Given the description of an element on the screen output the (x, y) to click on. 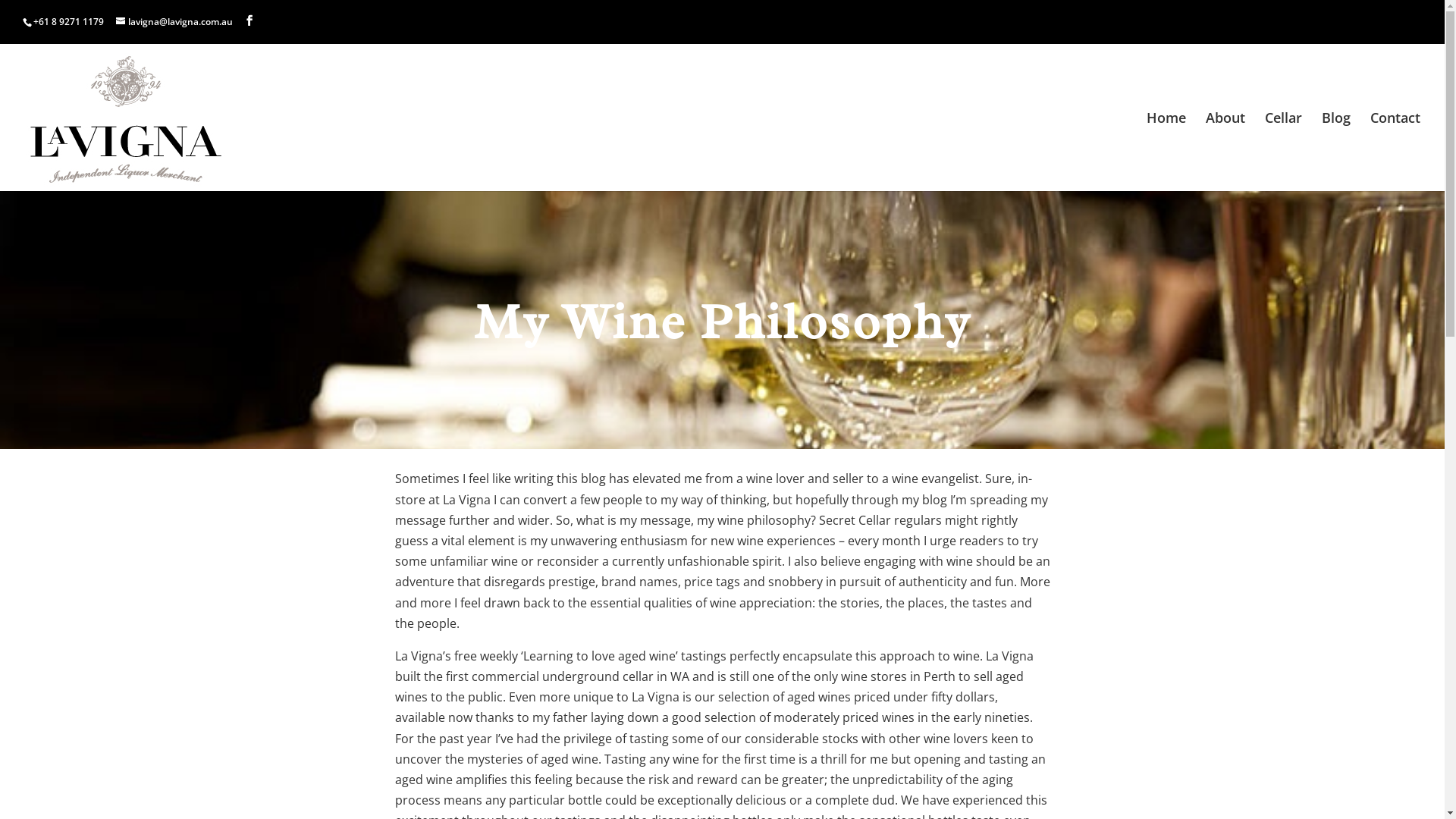
Blog Element type: text (1335, 151)
Contact Element type: text (1395, 151)
Cellar Element type: text (1283, 151)
About Element type: text (1225, 151)
lavigna@lavigna.com.au Element type: text (174, 21)
Home Element type: text (1166, 151)
